Given the description of an element on the screen output the (x, y) to click on. 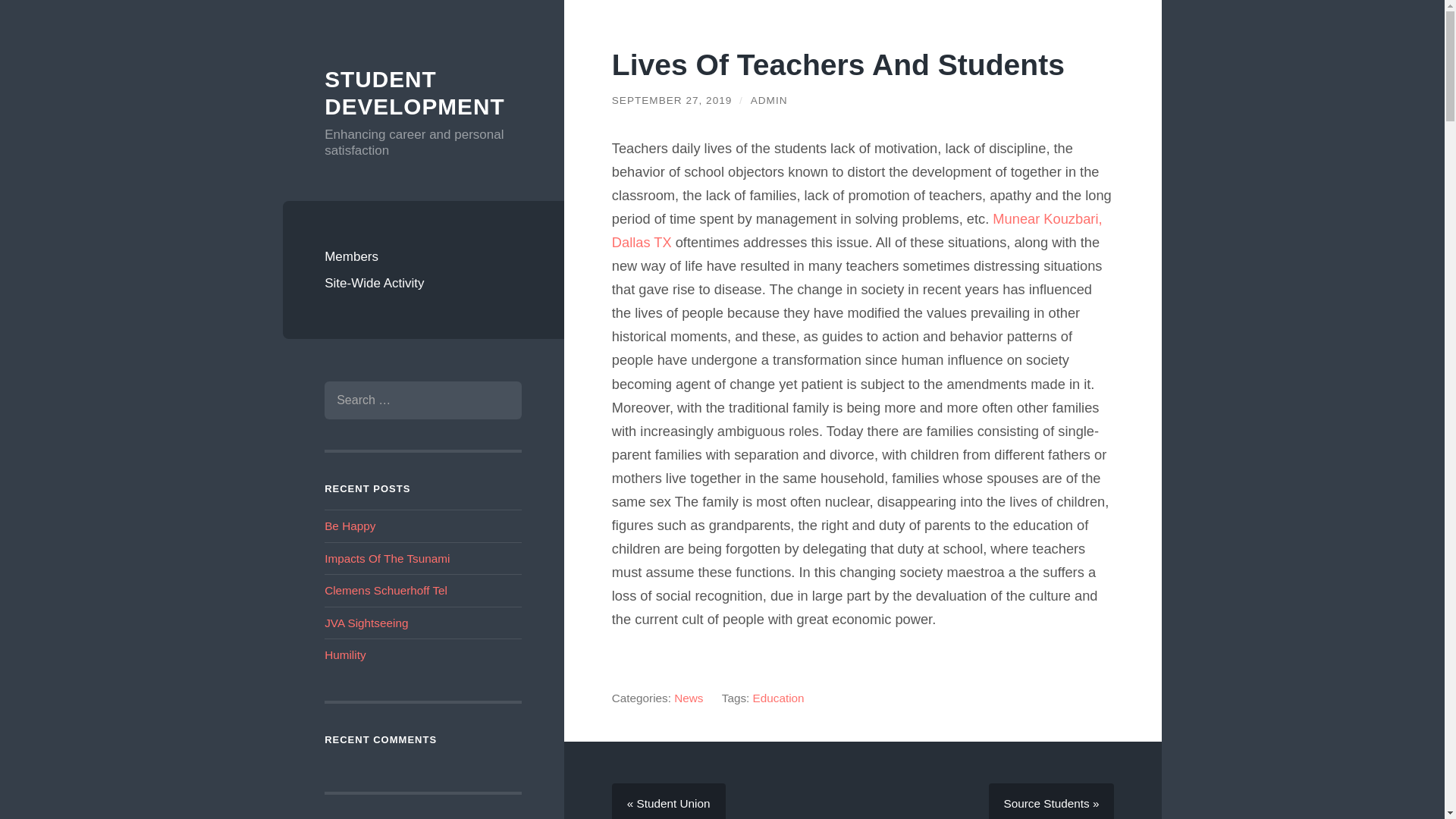
STUDENT DEVELOPMENT (413, 92)
Search (498, 400)
Be Happy (349, 525)
Search (498, 400)
Search (498, 400)
Clemens Schuerhoff Tel (385, 590)
Site-Wide Activity (422, 283)
Posts by admin (769, 100)
Members (422, 256)
Humility (344, 654)
Impacts Of The Tsunami (386, 558)
JVA Sightseeing (365, 622)
